Given the description of an element on the screen output the (x, y) to click on. 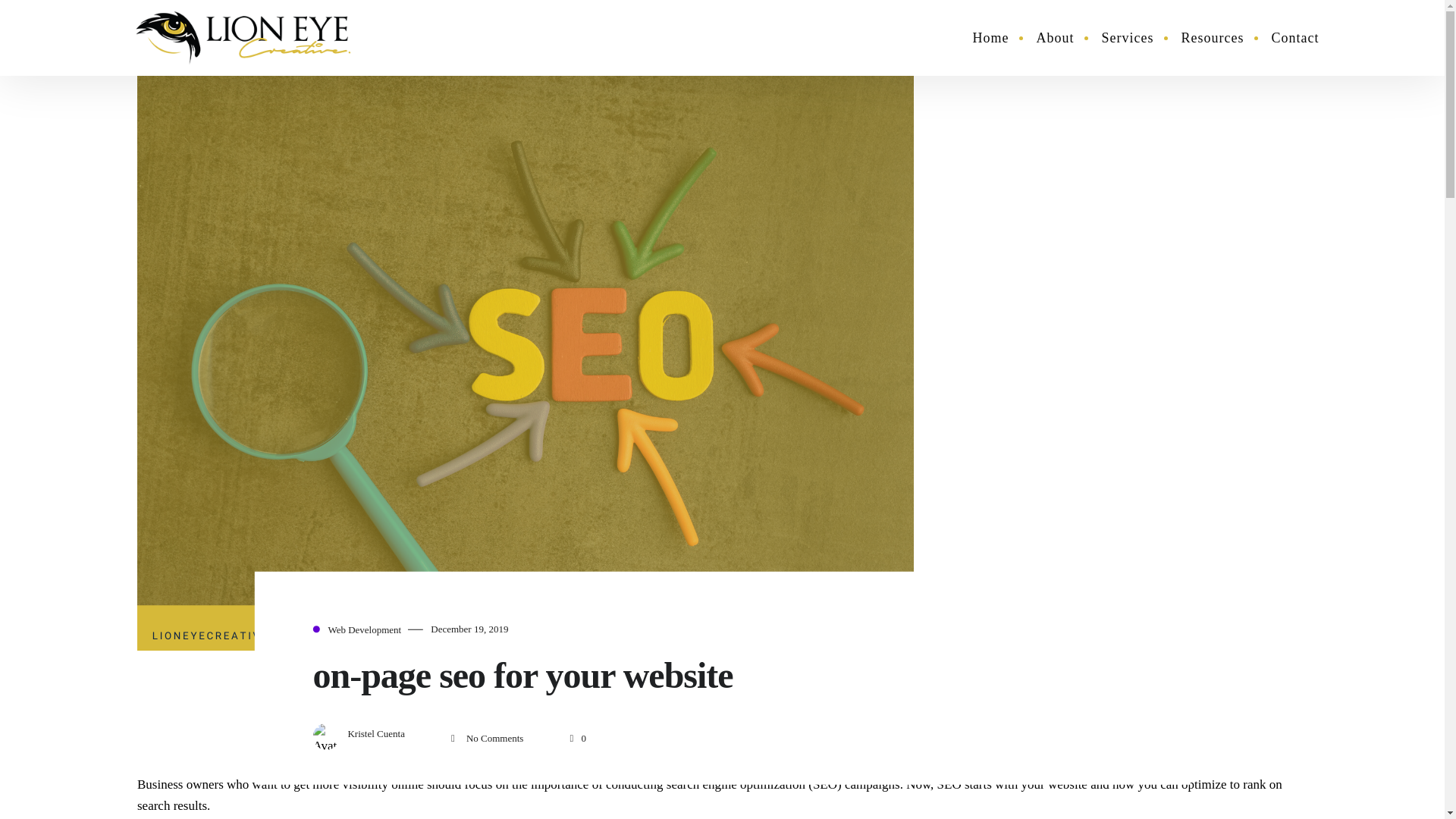
Services (1127, 38)
Contact (1294, 38)
Web Development (364, 628)
Gravatar for Kristel Cuenta (326, 736)
About (1055, 38)
Home (991, 38)
Resources (1212, 38)
Posts by Kristel Cuenta (375, 733)
Kristel Cuenta (375, 733)
